Given the description of an element on the screen output the (x, y) to click on. 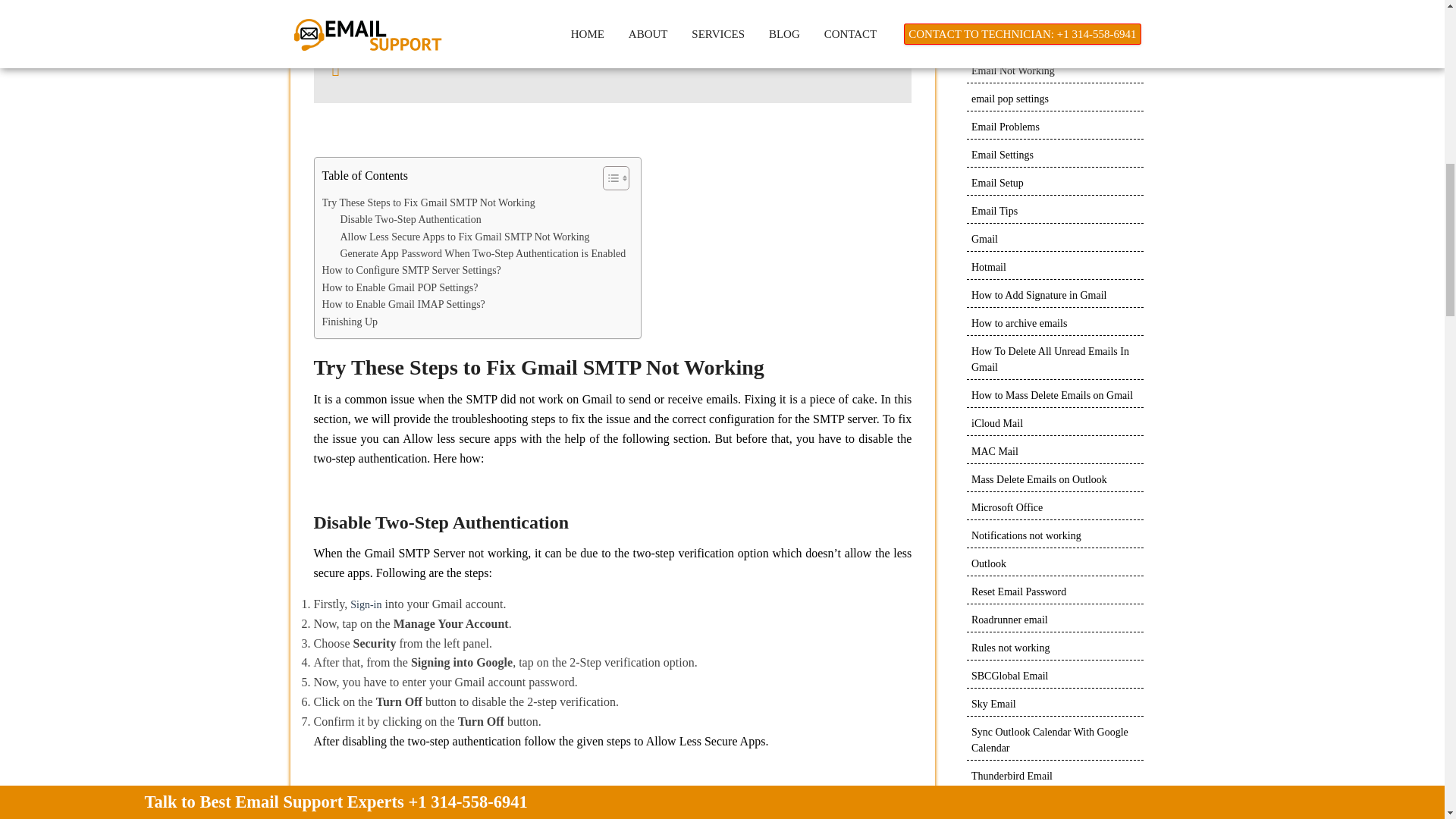
Disable Two-Step Authentication (409, 219)
How to Enable Gmail POP Settings? (399, 288)
How to Configure SMTP Server Settings? (410, 270)
Finishing Up (349, 321)
Disable Two-Step Authentication (409, 219)
Try These Steps to Fix Gmail SMTP Not Working (427, 202)
Try These Steps to Fix Gmail SMTP Not Working (427, 202)
How to Configure SMTP Server Settings? (410, 270)
How to free up space in Gmail (499, 60)
Allow Less Secure Apps to Fix Gmail SMTP Not Working (464, 237)
Allow Less Secure Apps to Fix Gmail SMTP Not Working (464, 237)
How to Enable Gmail IMAP Settings? (402, 304)
